Given the description of an element on the screen output the (x, y) to click on. 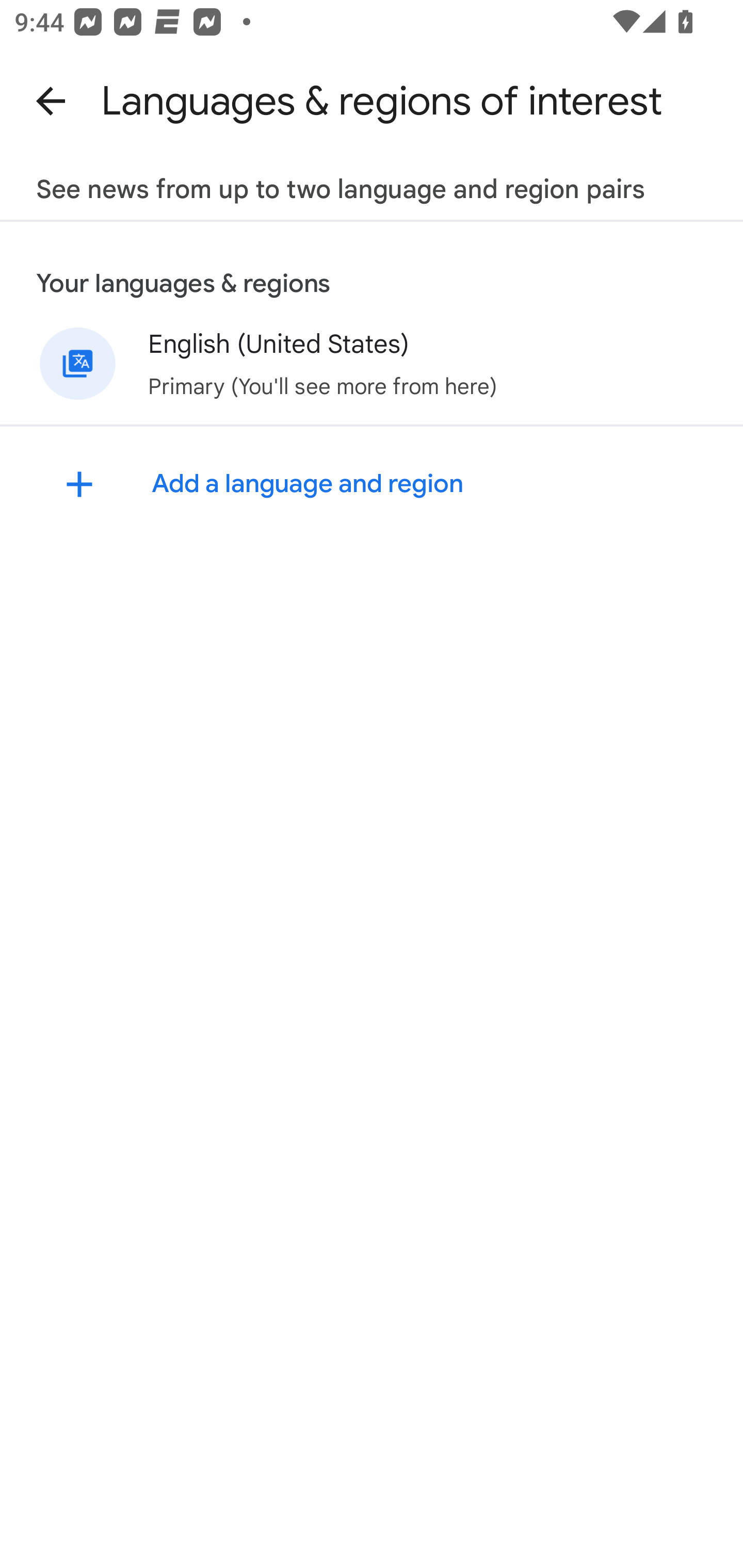
Navigate up (50, 101)
Add a language and region (371, 484)
